Given the description of an element on the screen output the (x, y) to click on. 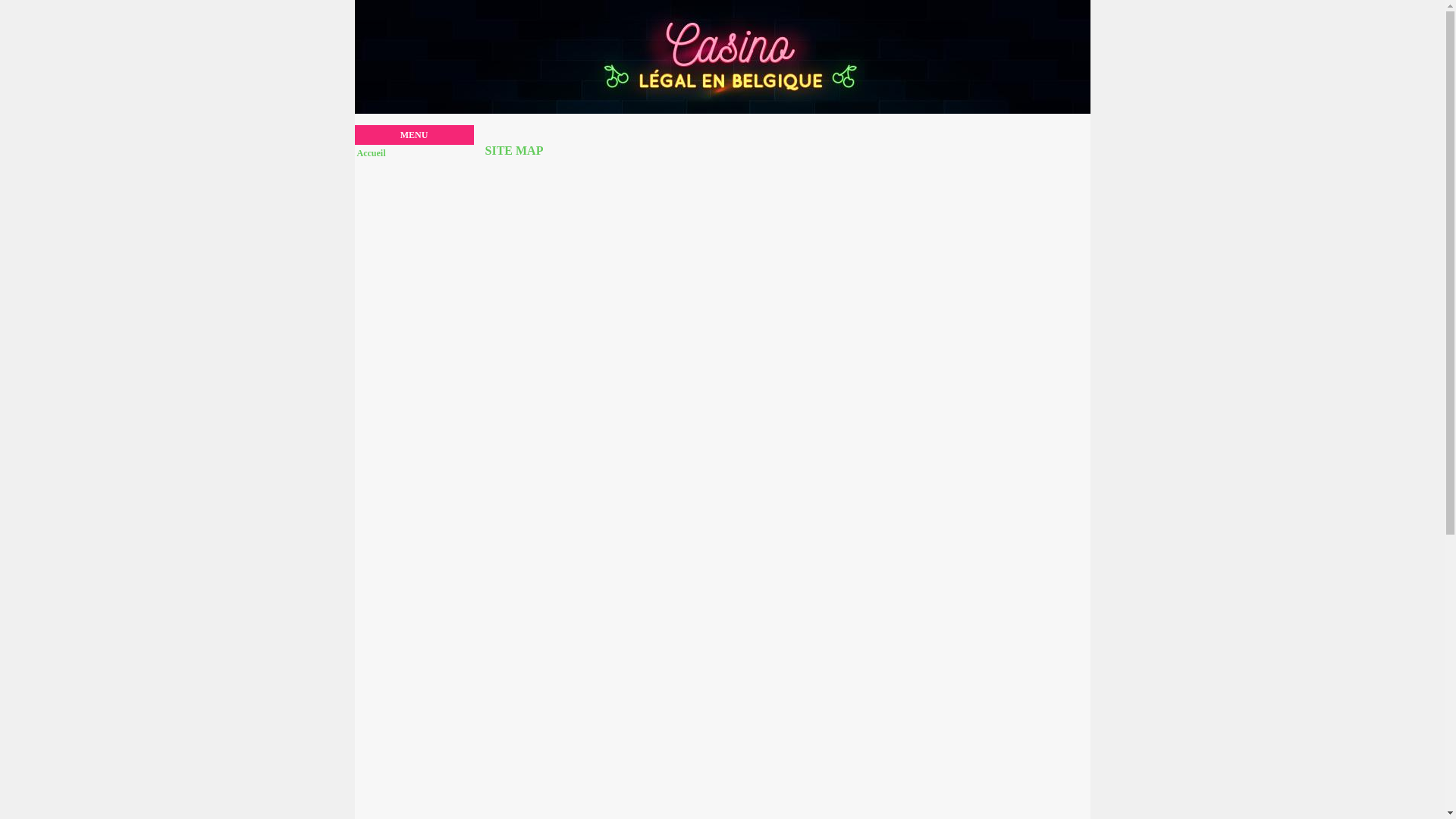
MENU Element type: text (413, 134)
Accueil Element type: text (414, 152)
